Given the description of an element on the screen output the (x, y) to click on. 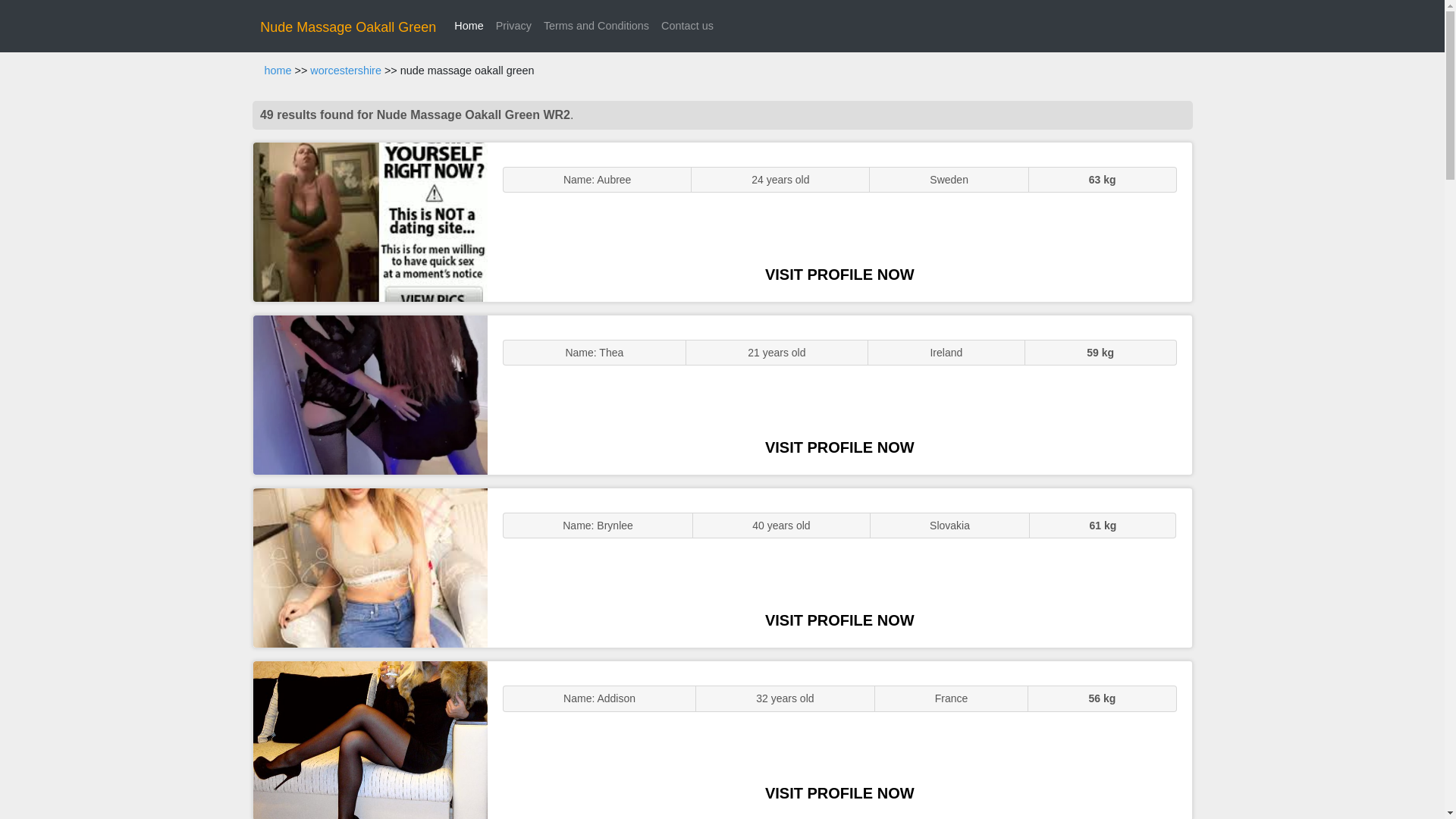
worcestershire (345, 70)
Nude Massage Oakall Green (347, 27)
Sluts (370, 739)
Contact us (687, 25)
VISIT PROFILE NOW (839, 446)
Sexy (370, 567)
Privacy (513, 25)
Terms and Conditions (596, 25)
VISIT PROFILE NOW (839, 619)
home (277, 70)
VISIT PROFILE NOW (839, 792)
VISIT PROFILE NOW (839, 274)
 ENGLISH STUNNER (370, 222)
GFE (370, 395)
